Given the description of an element on the screen output the (x, y) to click on. 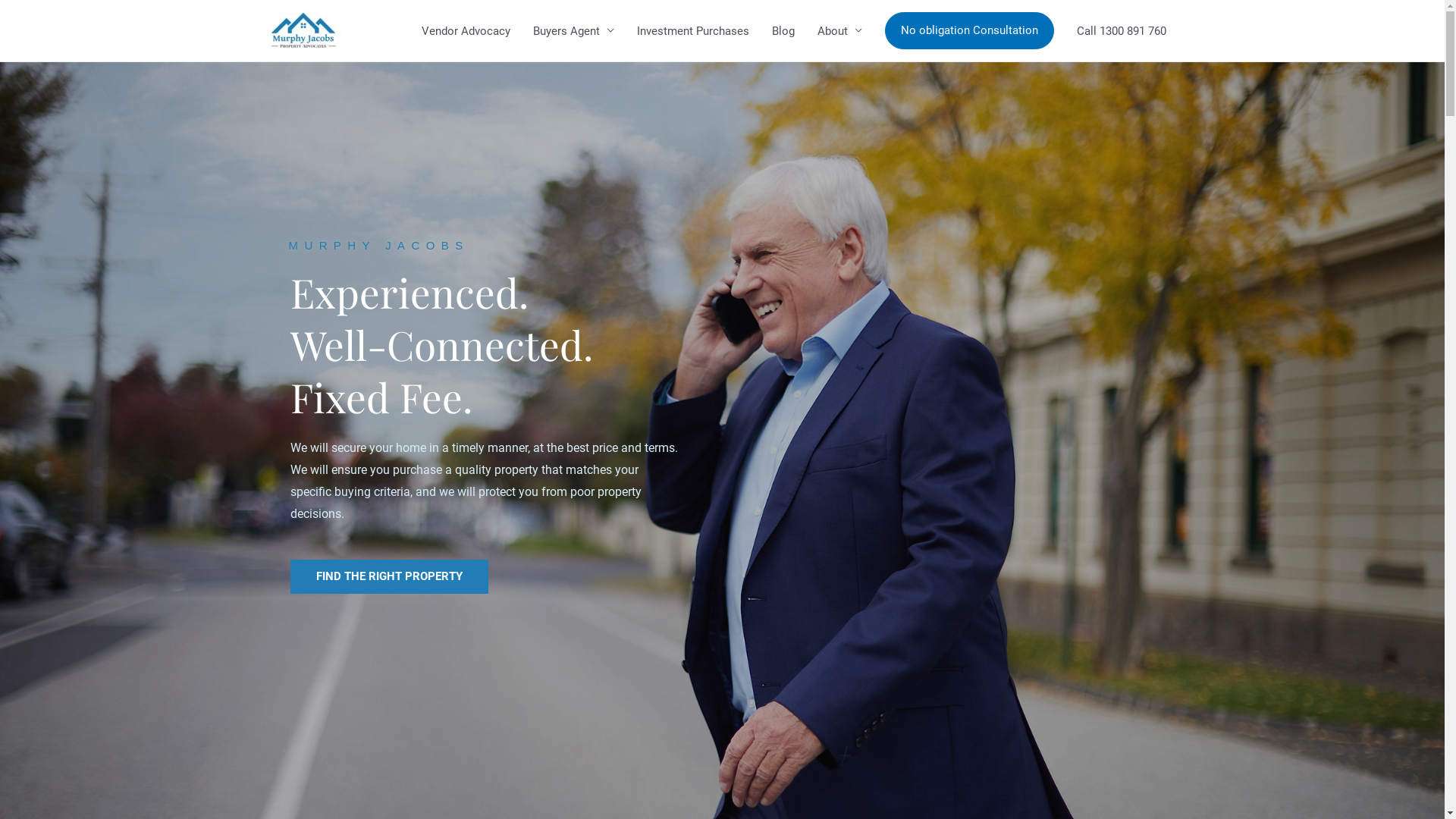
Call 1300 891 760 Element type: text (1120, 30)
About Element type: text (838, 30)
No obligation Consultation Element type: text (969, 30)
Buyers Agent Element type: text (573, 30)
Investment Purchases Element type: text (691, 30)
Vendor Advocacy Element type: text (464, 30)
FIND THE RIGHT PROPERTY Element type: text (388, 576)
Blog Element type: text (782, 30)
No obligation Consultation Element type: text (968, 31)
